Given the description of an element on the screen output the (x, y) to click on. 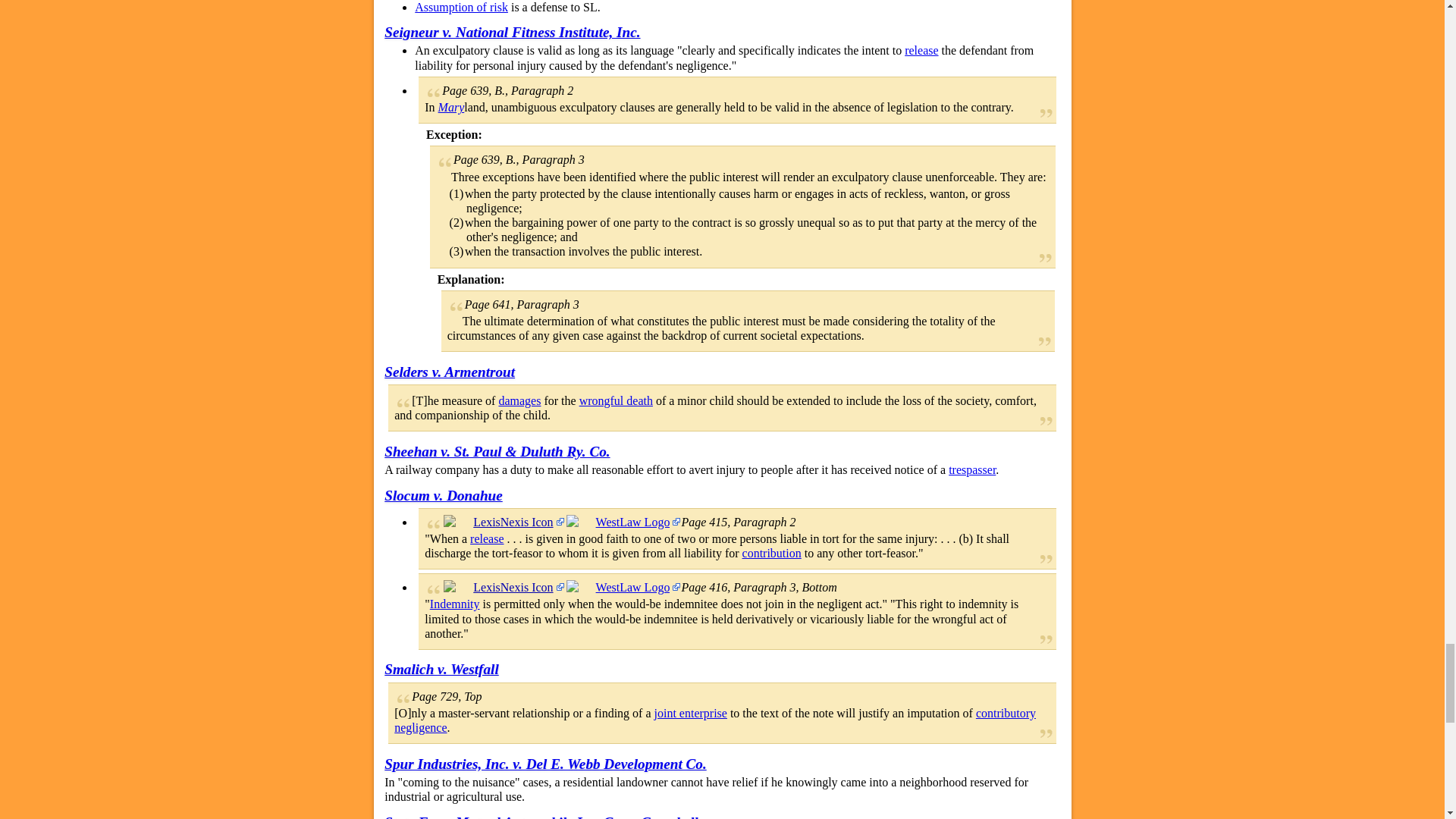
View page 939 on WestLaw (622, 586)
View headnote 1 on Lexis Advance (503, 521)
View headnote 3 on Lexis Advance (503, 586)
